Given the description of an element on the screen output the (x, y) to click on. 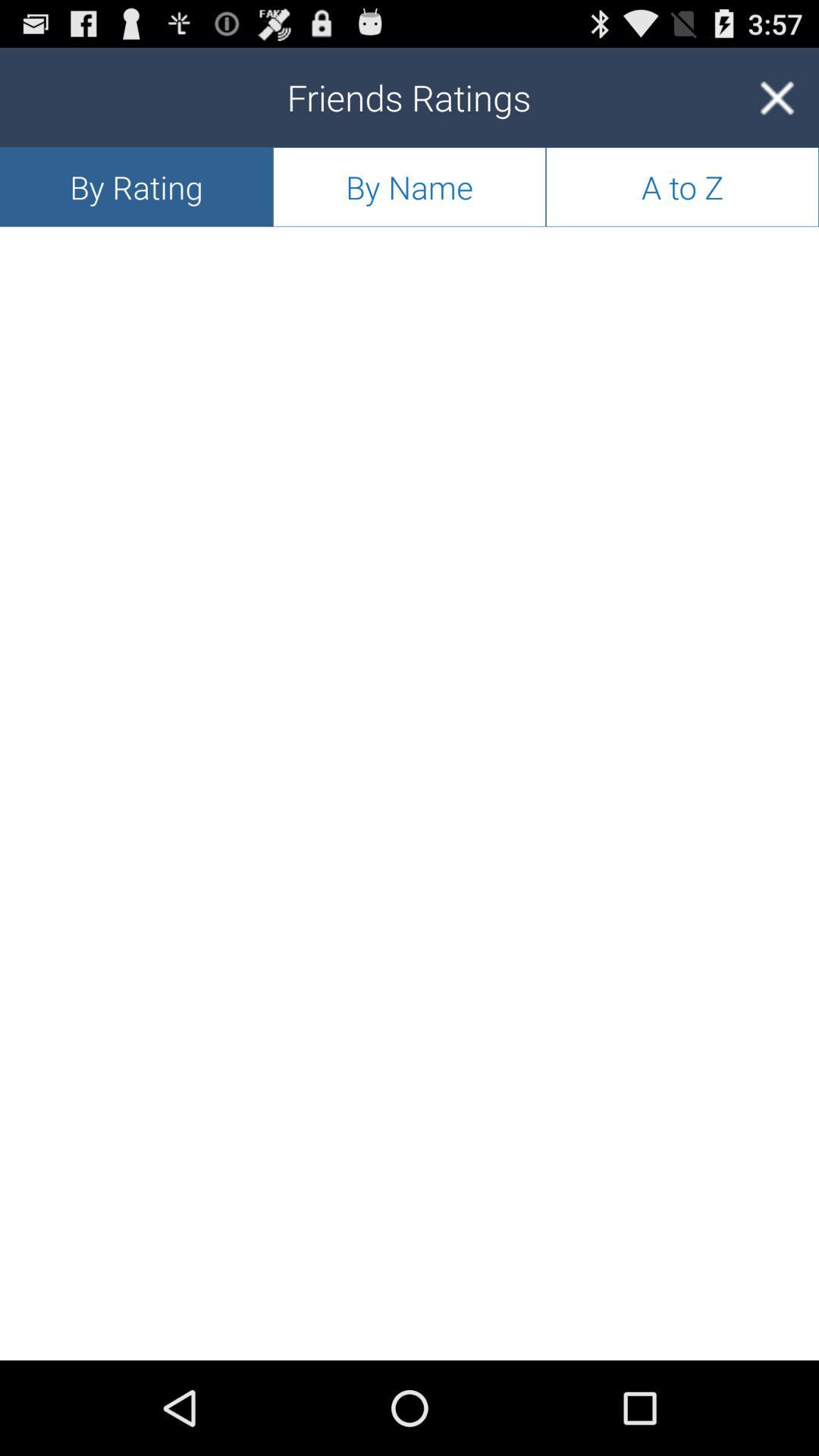
launch the app to the left of the by name icon (136, 186)
